Given the description of an element on the screen output the (x, y) to click on. 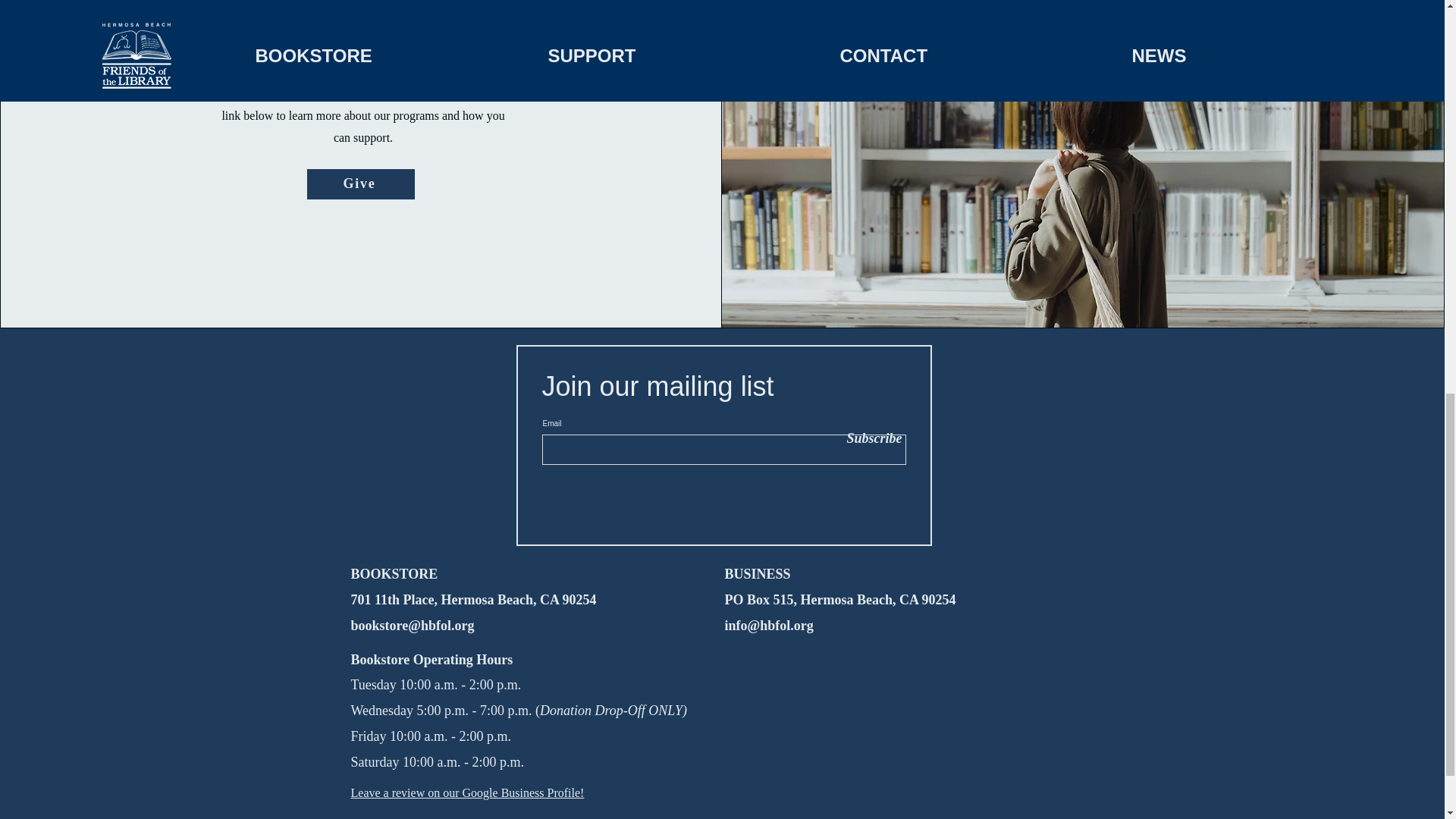
Leave a review on our Google Business Profile! (466, 792)
Subscribe (867, 438)
Give (360, 183)
